Given the description of an element on the screen output the (x, y) to click on. 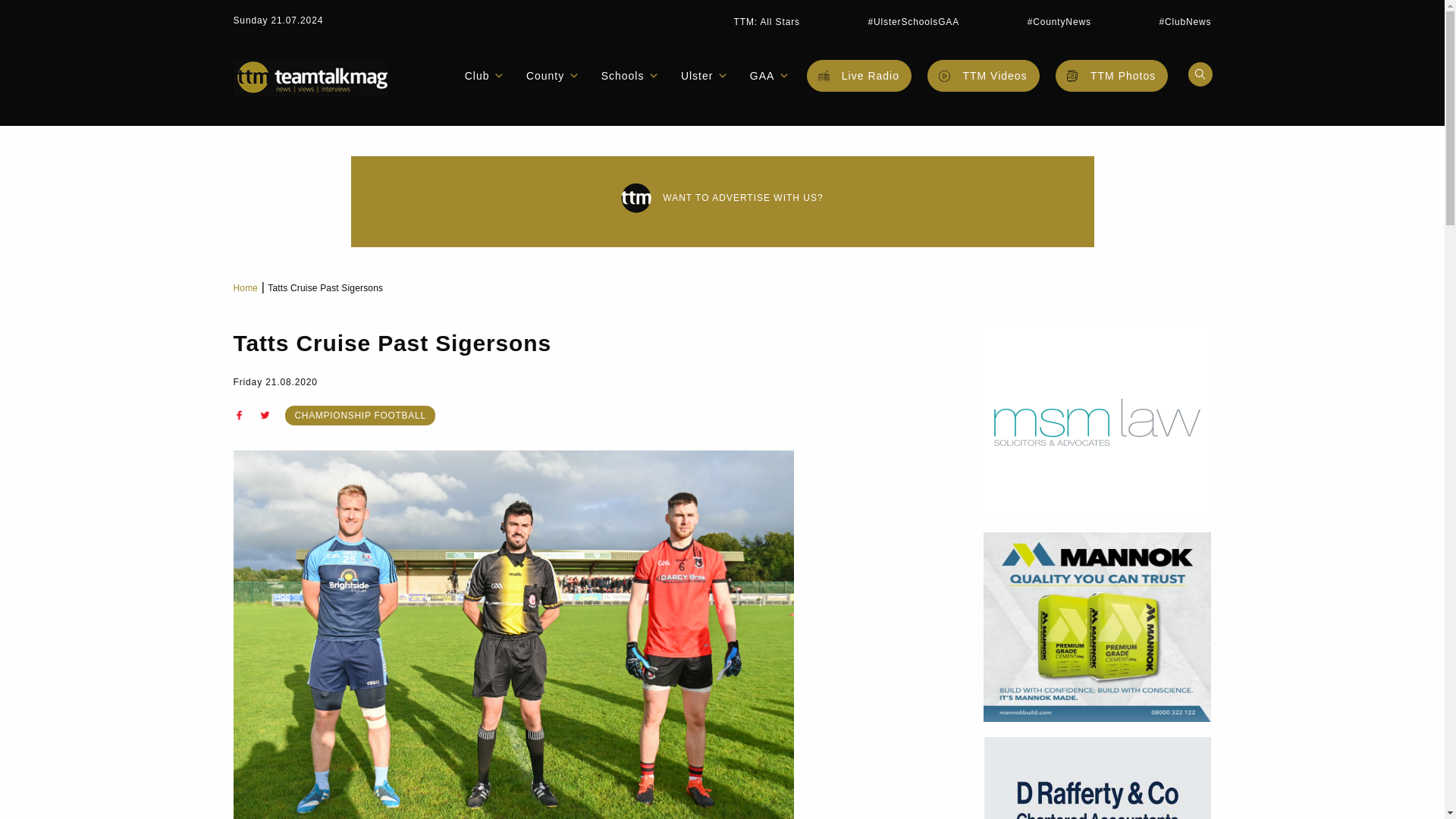
TeamTalk Mag (309, 76)
